Given the description of an element on the screen output the (x, y) to click on. 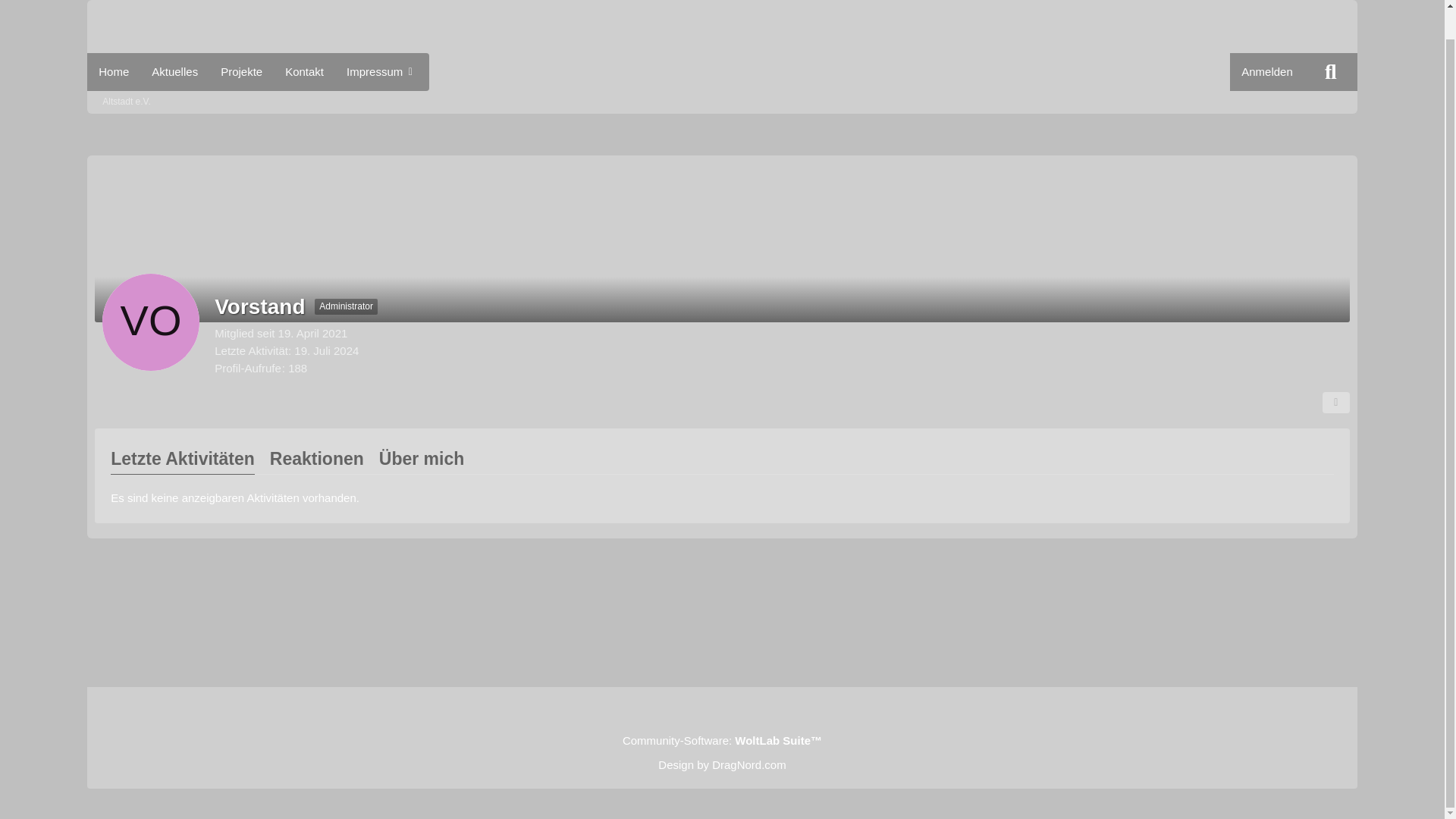
Kontakt (303, 71)
0,15 Aufrufe pro Tag (249, 368)
Reaktionen (316, 459)
Altstadt e.V. (126, 101)
Aktuelles (174, 71)
Anmelden (1267, 71)
Home (113, 71)
DragNord.com (748, 764)
Projekte (241, 71)
